Given the description of an element on the screen output the (x, y) to click on. 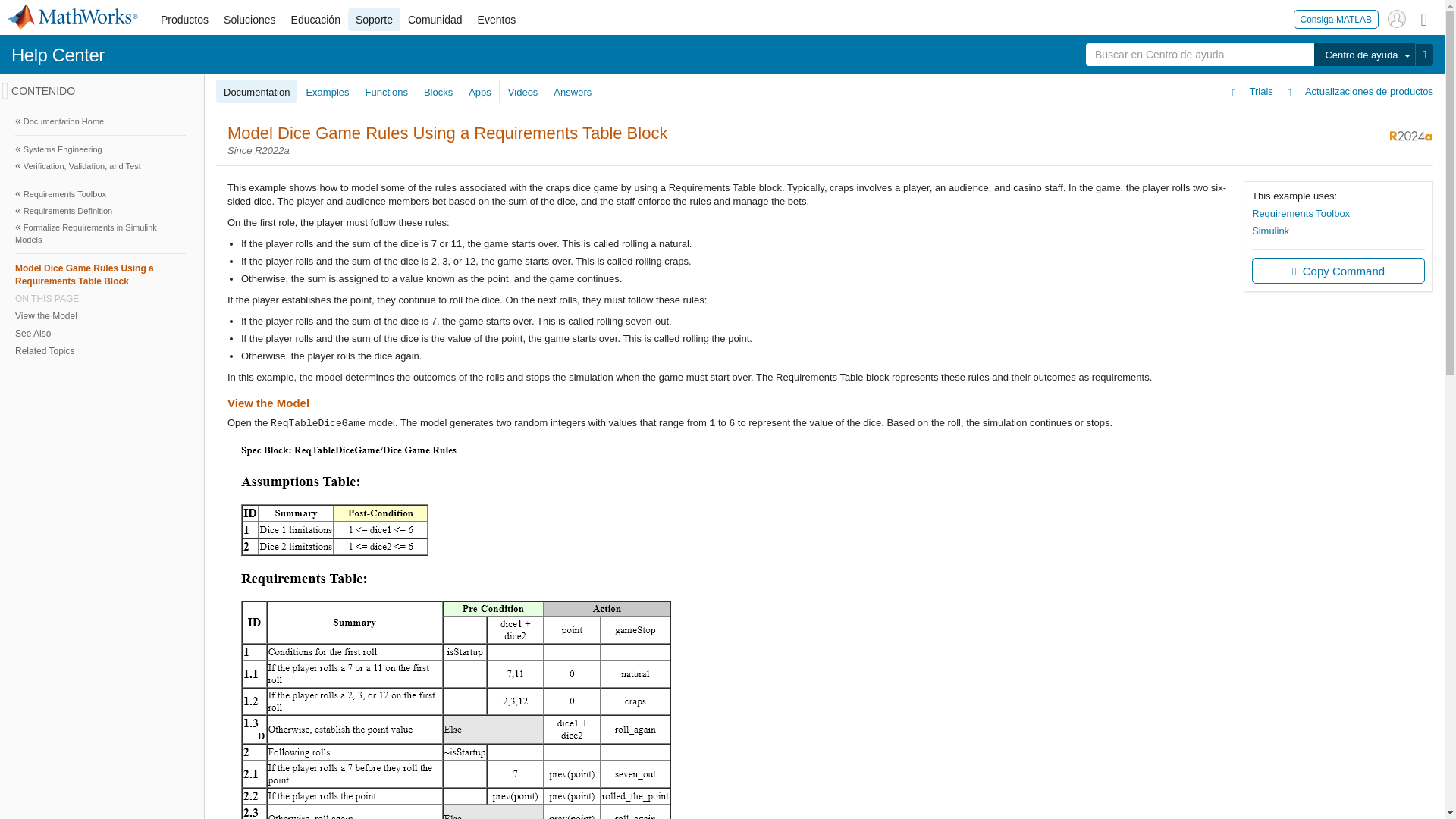
Soluciones (249, 19)
Consiga MATLAB (1336, 18)
Productos (183, 19)
Documentation Home (100, 121)
Help Center (57, 54)
Centro de ayuda (1363, 54)
Verification, Validation, and Test (100, 166)
Systems Engineering (100, 149)
Soporte (373, 19)
Requirements Toolbox (100, 193)
